Given the description of an element on the screen output the (x, y) to click on. 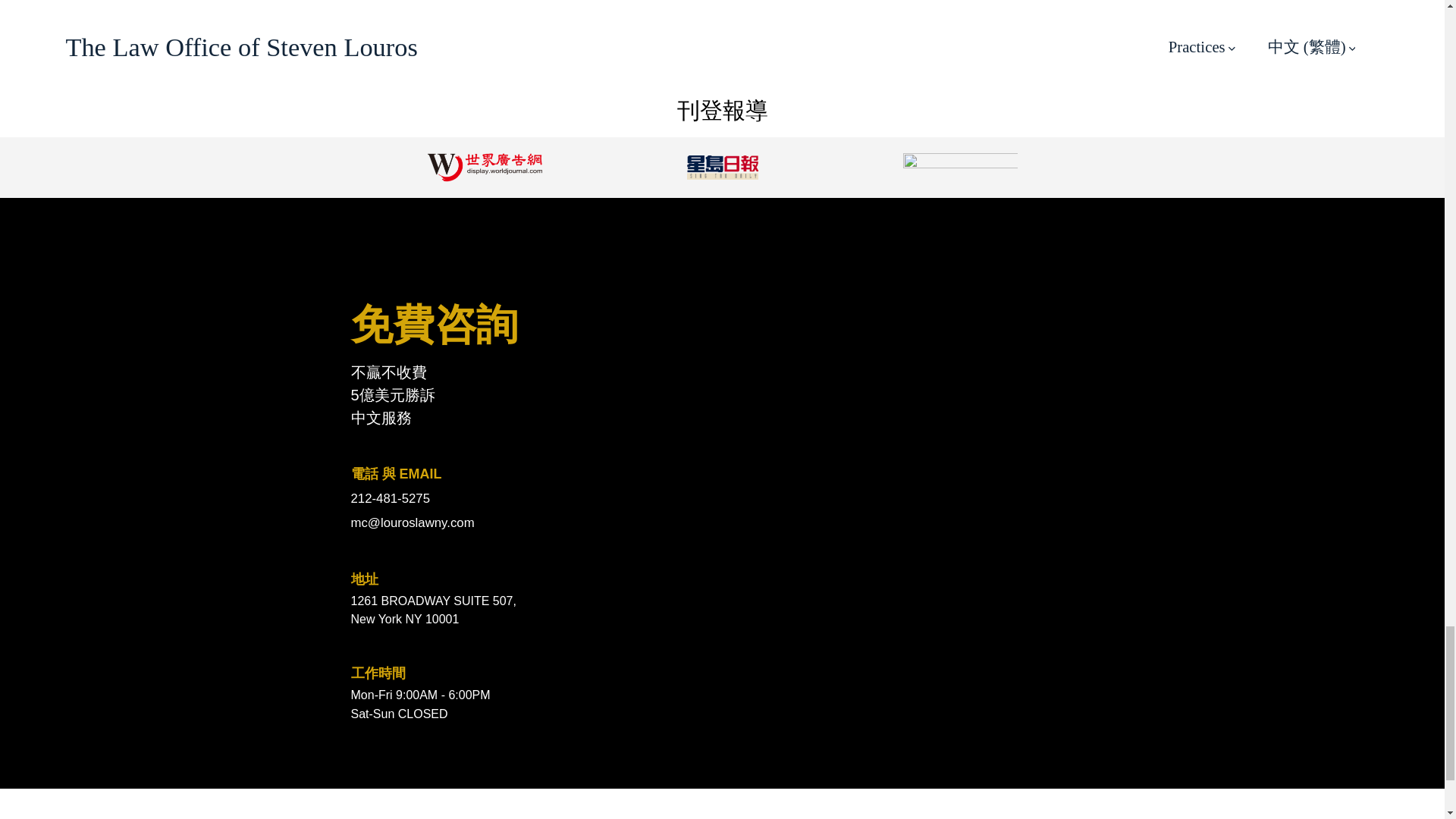
212-481-5275 (536, 498)
